Given the description of an element on the screen output the (x, y) to click on. 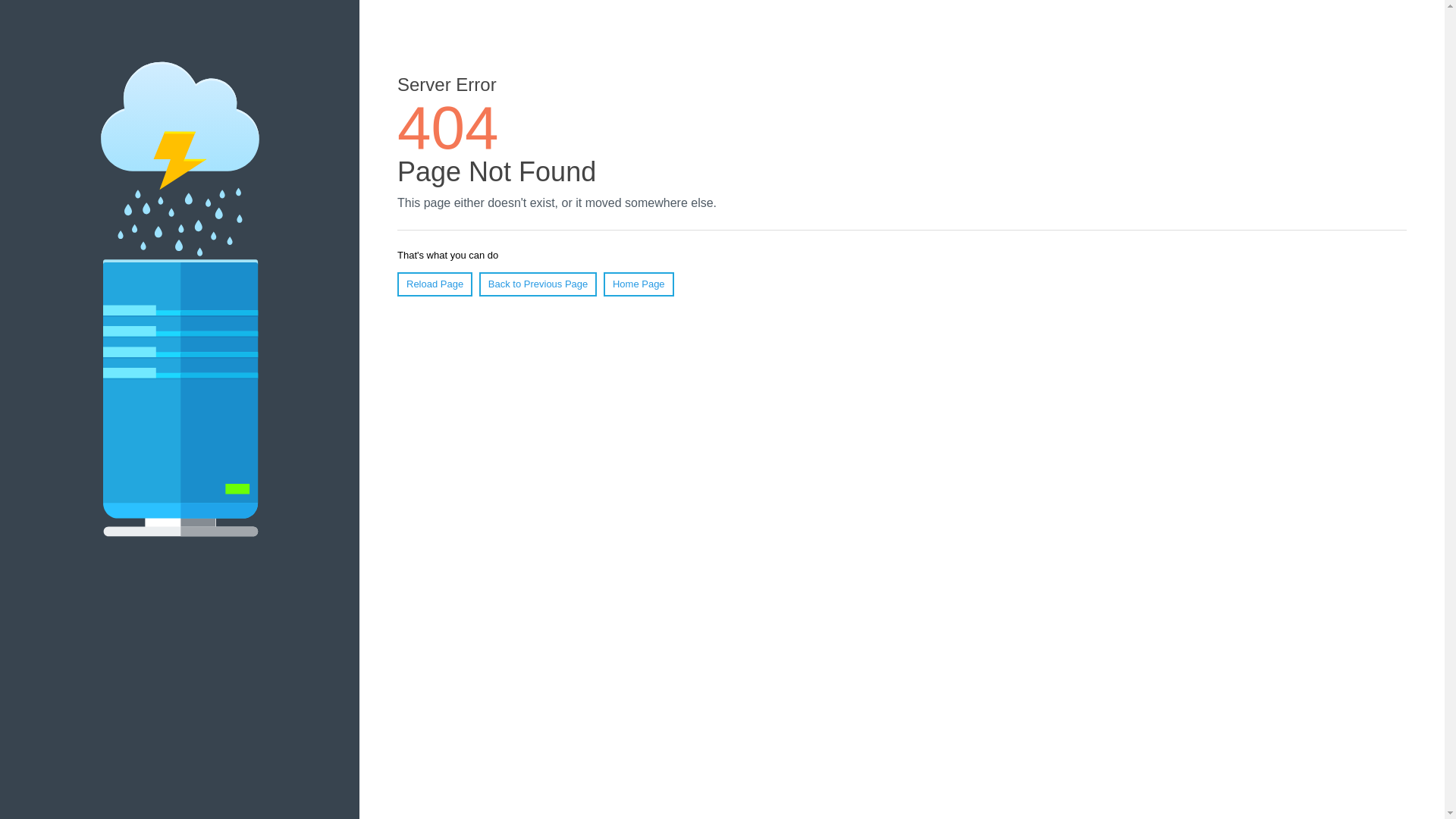
Reload Page Element type: text (434, 284)
Home Page Element type: text (638, 284)
Back to Previous Page Element type: text (538, 284)
